Given the description of an element on the screen output the (x, y) to click on. 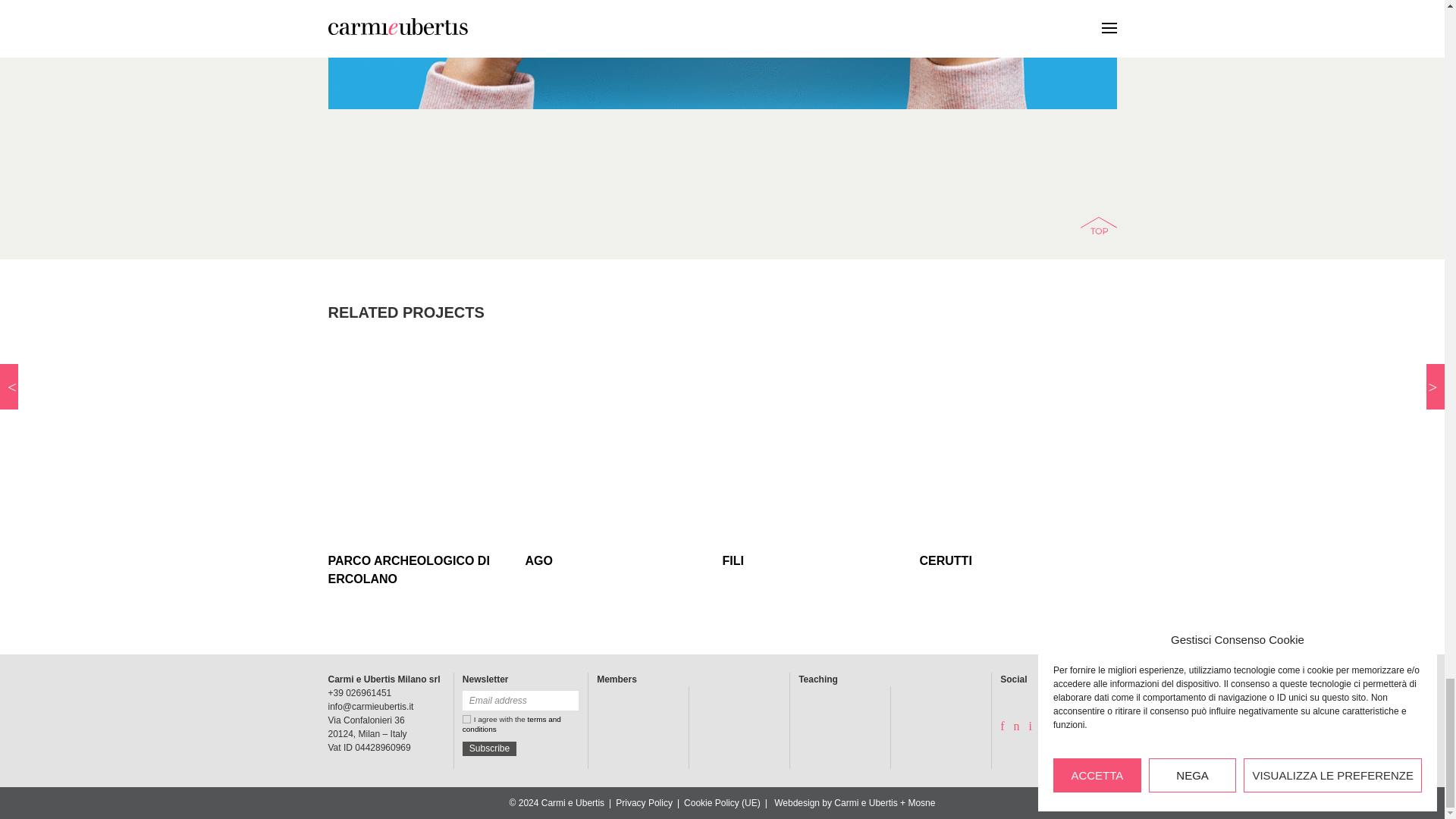
subscribe (489, 748)
